Given the description of an element on the screen output the (x, y) to click on. 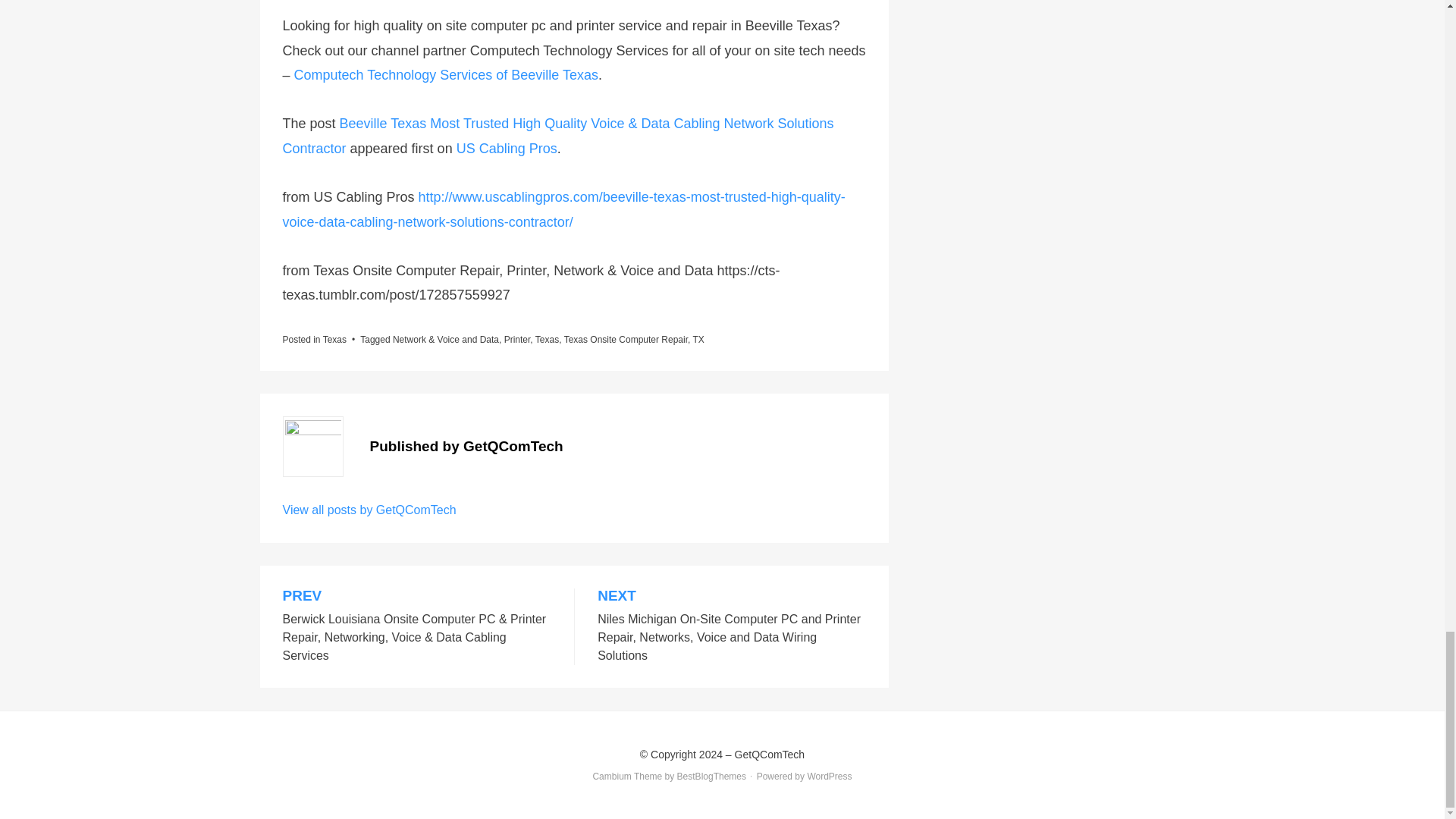
Texas (547, 339)
BestBlogThemes (711, 776)
View all posts by GetQComTech (368, 509)
Computech Technology Services of Beeville Texas (446, 74)
TX (698, 339)
Printer (517, 339)
BestBlogThemes (711, 776)
GetQComTech (770, 754)
Texas (334, 339)
